Given the description of an element on the screen output the (x, y) to click on. 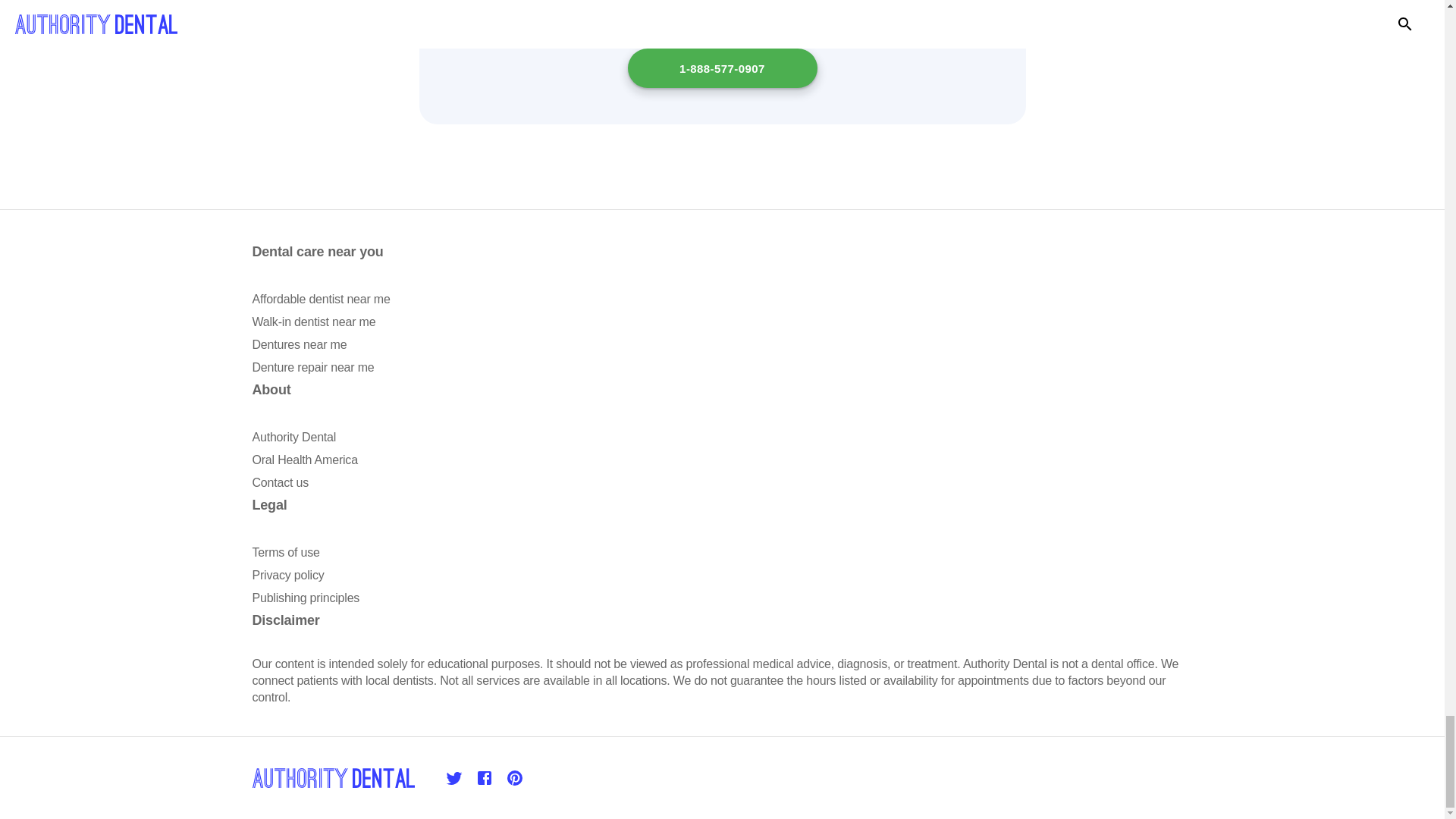
Privacy policy (287, 574)
Walk-in dentist near me (313, 321)
1-888-577-0907 (721, 67)
Oral Health America (303, 459)
Authority Dental (293, 436)
Affordable dentist near me (320, 298)
Denture repair near me (312, 367)
Dentures near me (298, 344)
Publishing principles (305, 597)
Contact us (279, 481)
